Given the description of an element on the screen output the (x, y) to click on. 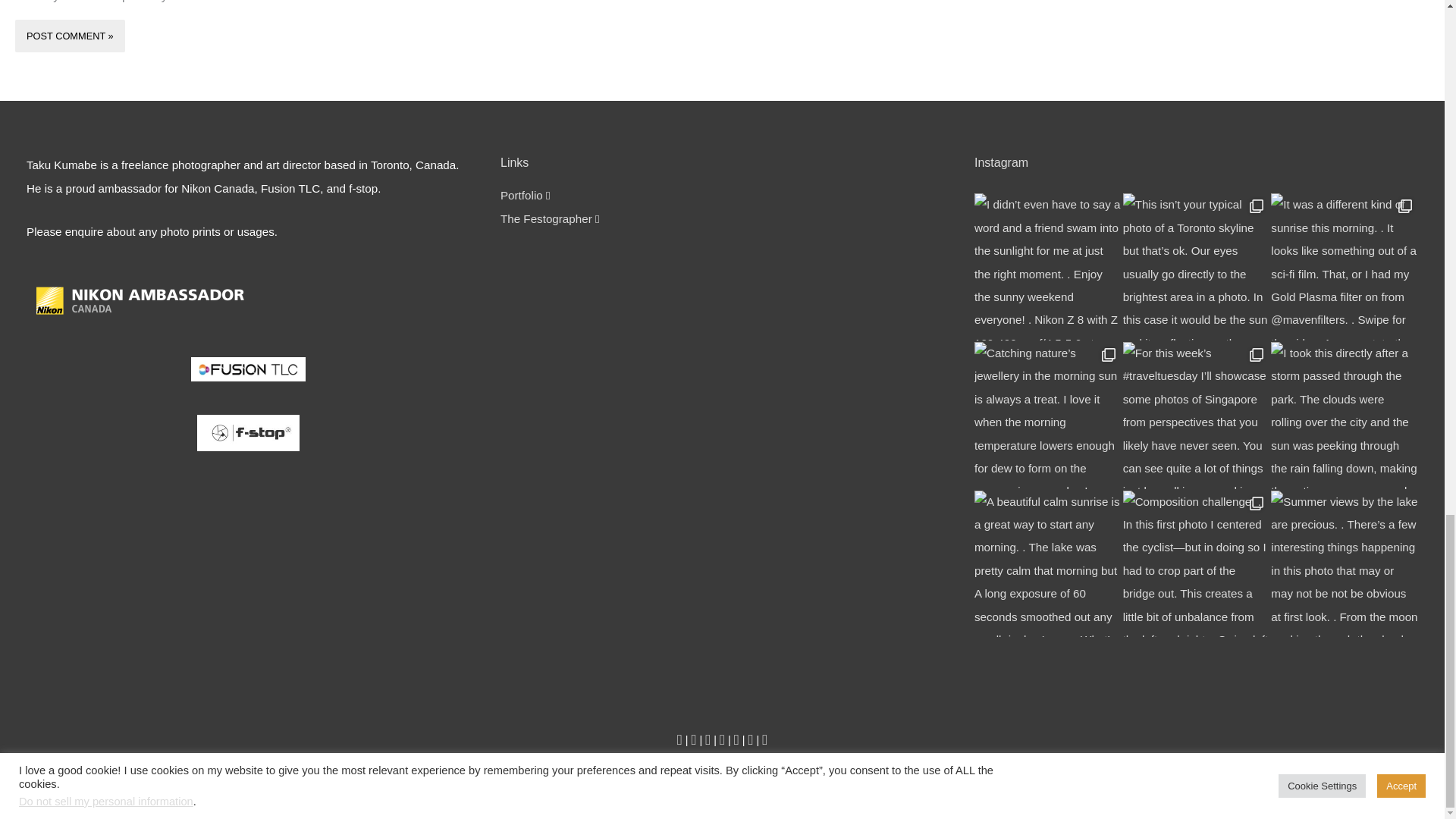
Portfolio (521, 195)
The Festographer (546, 218)
